Given the description of an element on the screen output the (x, y) to click on. 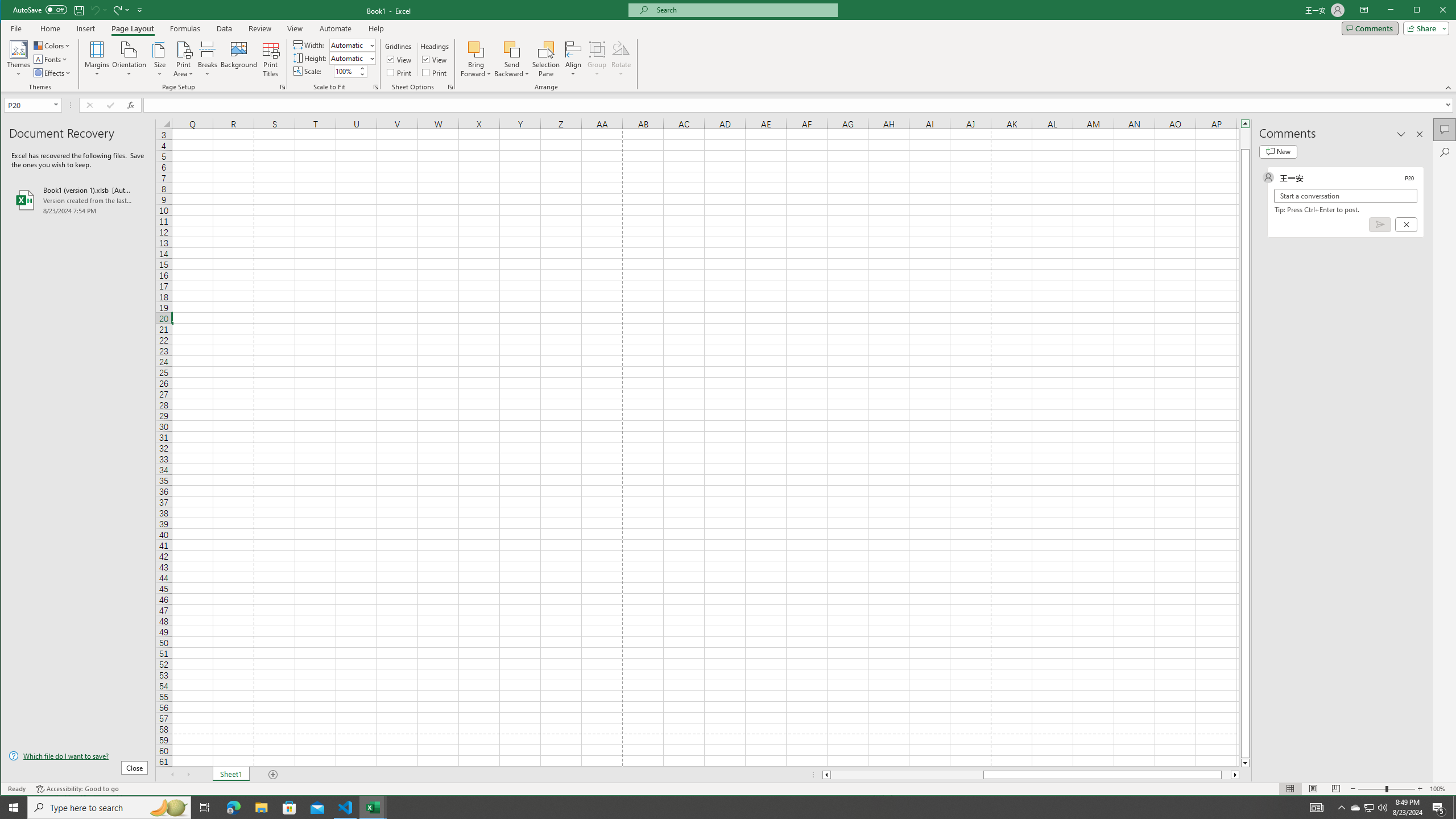
Which file do I want to save? (78, 755)
Print Titles (270, 59)
Show desktop (1454, 807)
Width (349, 45)
Less (361, 73)
Colors (53, 45)
Task Pane Options (1400, 133)
Height (352, 57)
Orientation (129, 59)
Send Backward (512, 59)
